Given the description of an element on the screen output the (x, y) to click on. 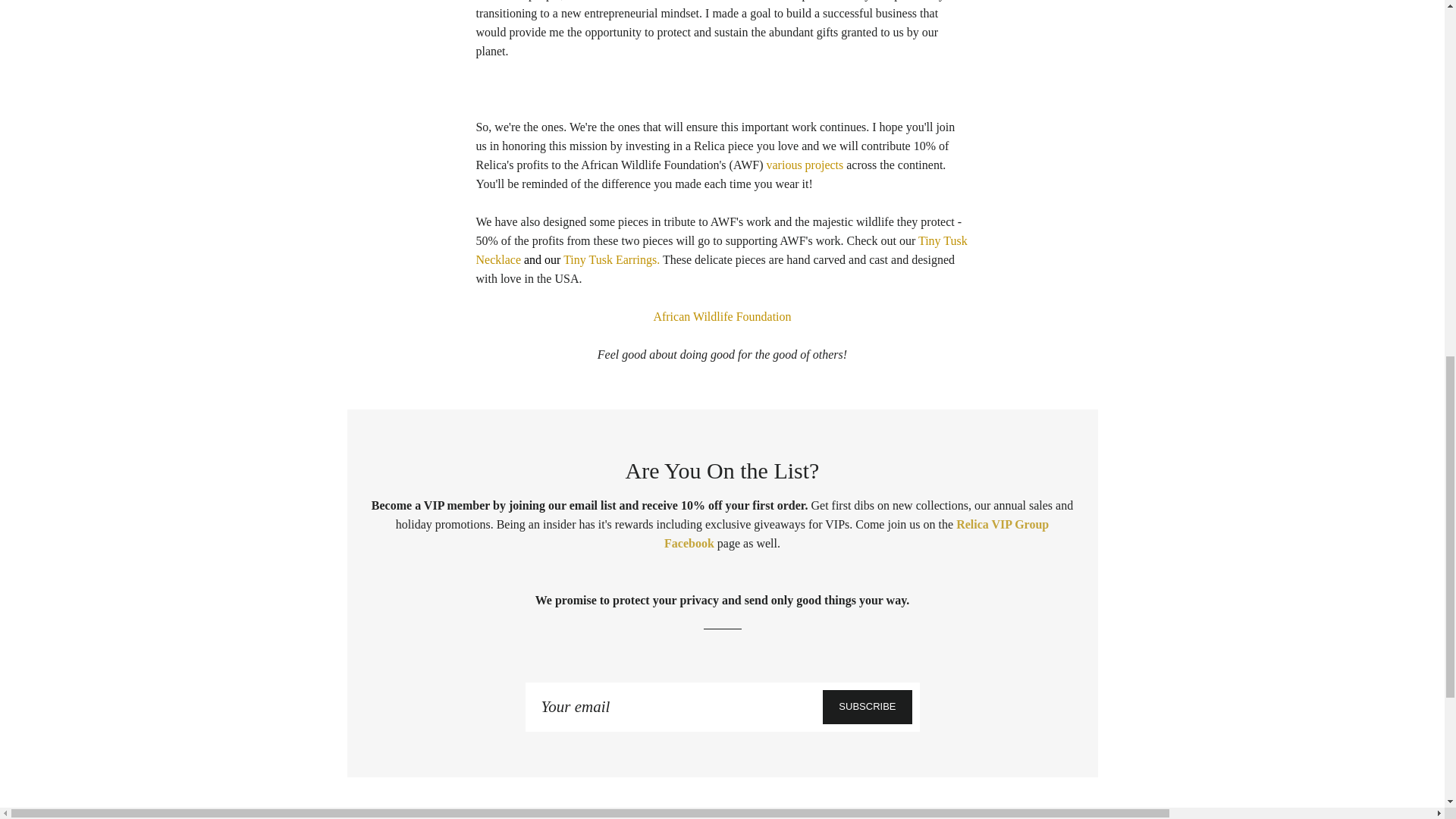
Tiny Tusk Necklace (721, 250)
We're The Ones (721, 316)
Tiny Tusk Earrings (609, 259)
African Wildlife Foundation Projects (804, 164)
